Given the description of an element on the screen output the (x, y) to click on. 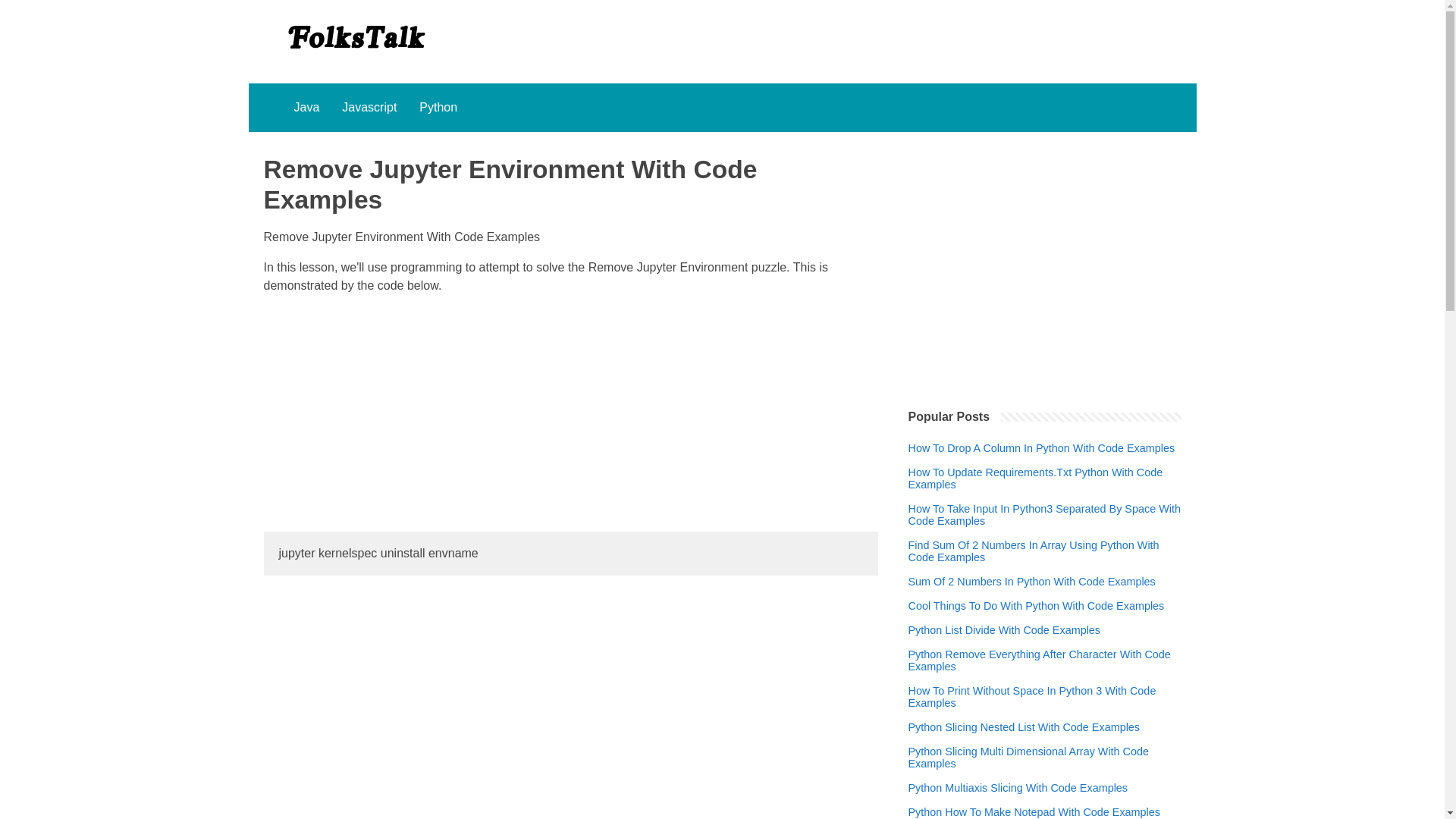
How To Drop A Column In Python With Code Examples (1041, 448)
Python Multiaxis Slicing With Code Examples (1018, 787)
How To Print Without Space In Python 3 With Code Examples (1044, 696)
Python List Divide With Code Examples (1004, 630)
Sum Of 2 Numbers In Python With Code Examples (1032, 581)
How To Update Requirements.Txt Python With Code Examples (1044, 478)
Python (438, 107)
Advertisement (570, 413)
Python Slicing Multi Dimensional Array With Code Examples (1044, 757)
